Given the description of an element on the screen output the (x, y) to click on. 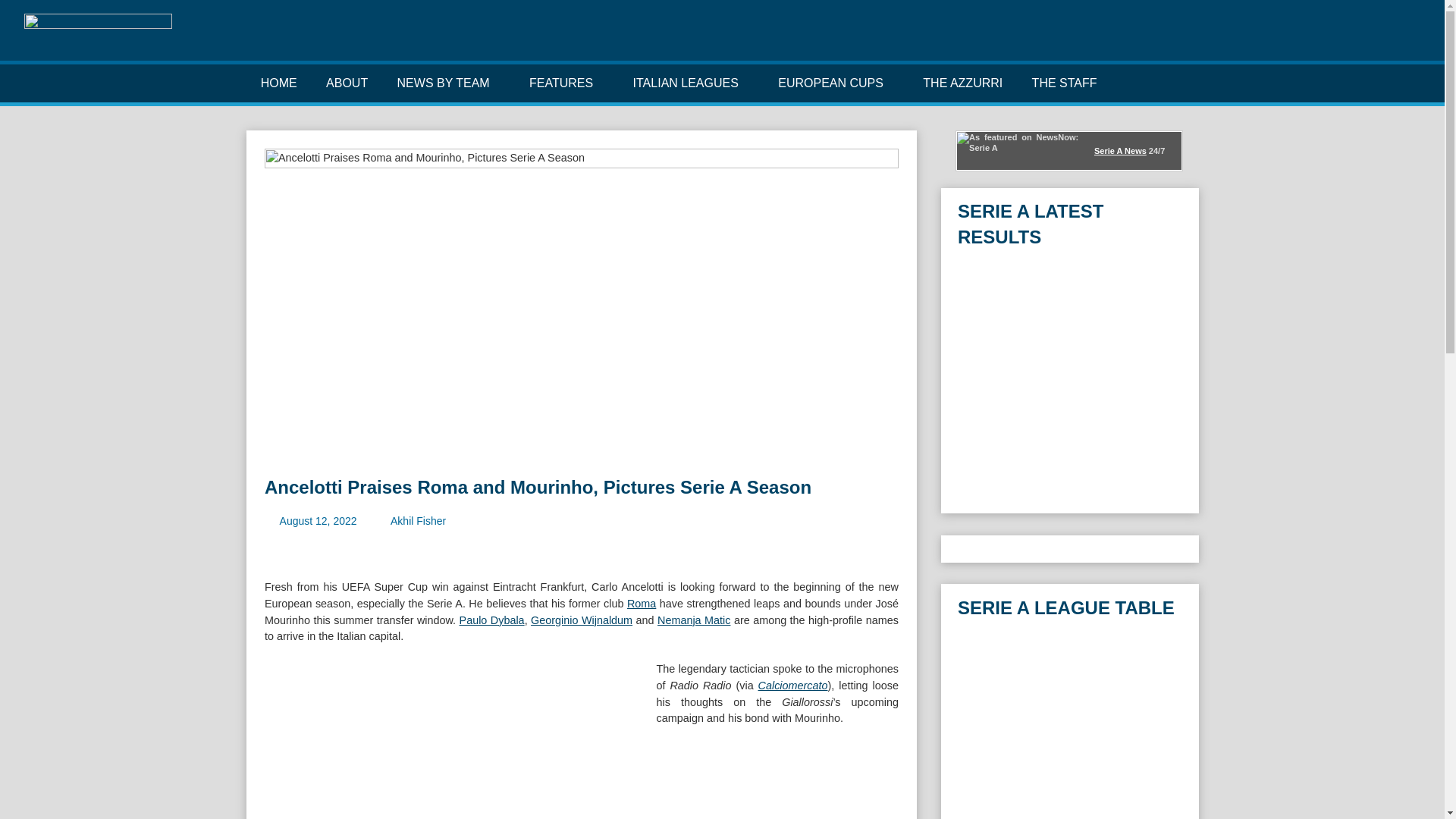
THE STAFF (1063, 83)
FEATURES (566, 83)
ITALIAN LEAGUES (689, 83)
HOME (278, 83)
Instagram (1363, 39)
View all posts by Akhil Fisher (417, 521)
9:00 pm (317, 521)
ABOUT (346, 83)
YouTube (1386, 39)
